Given the description of an element on the screen output the (x, y) to click on. 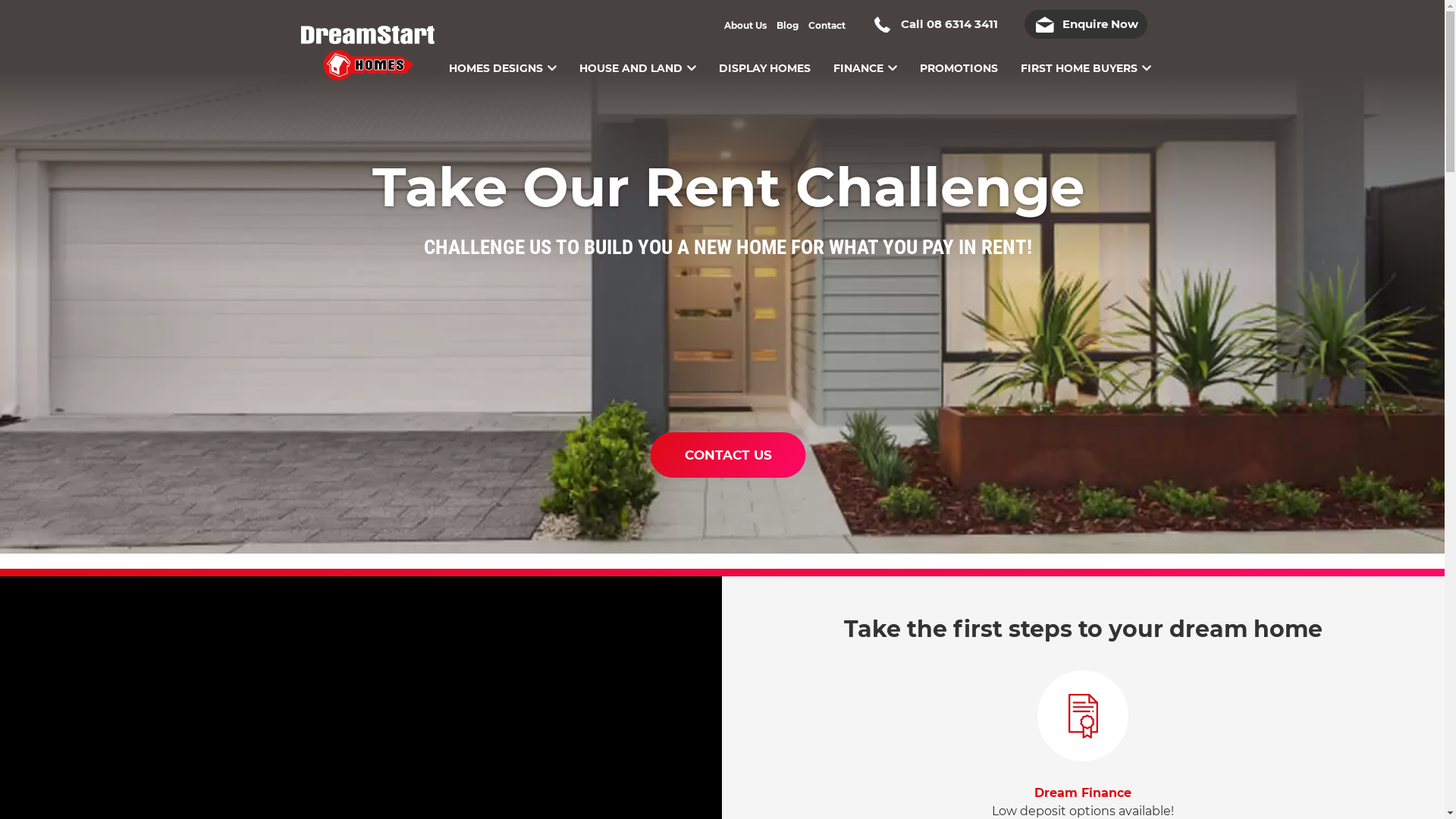
DISPLAY HOMES Element type: text (764, 56)
Blog Element type: text (787, 25)
PROMOTIONS Element type: text (957, 56)
Contact Element type: text (826, 25)
FINANCE Element type: text (864, 56)
Enquire Now Element type: text (1084, 23)
CONTACT US Element type: text (728, 454)
08 6314 3411 Element type: text (961, 23)
HOUSE AND LAND Element type: text (637, 56)
HOMES DESIGNS Element type: text (502, 56)
About Us Element type: text (744, 25)
FIRST HOME BUYERS Element type: text (1085, 56)
